Given the description of an element on the screen output the (x, y) to click on. 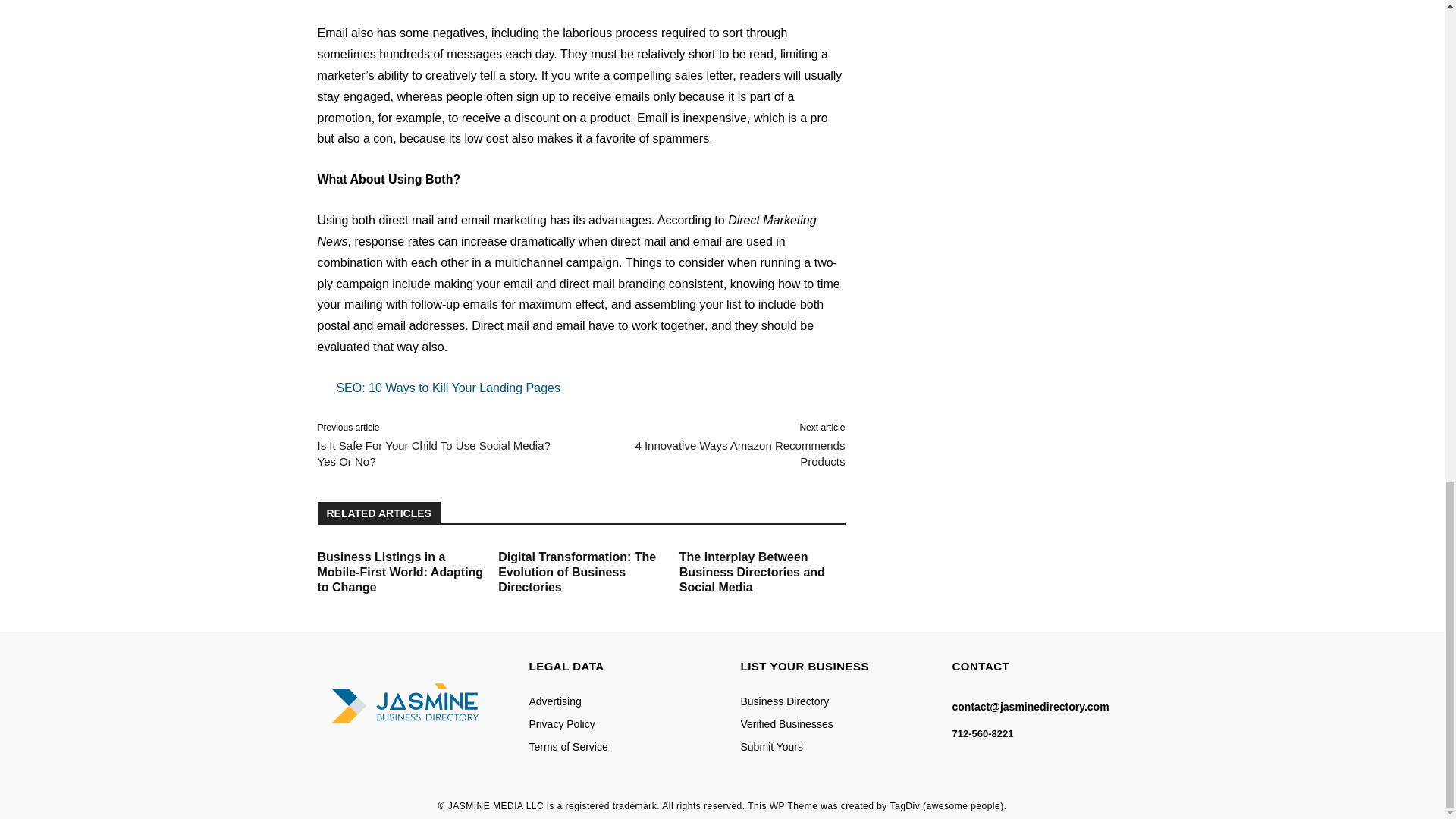
The Interplay Between Business Directories and Social Media (752, 571)
  SEO: 10 Ways to Kill Your Landing Pages (580, 387)
712-560-8221 (982, 733)
4 Innovative Ways Amazon Recommends Products (739, 452)
The Interplay Between Business Directories and Social Media (752, 571)
Is It Safe For Your Child To Use Social Media? Yes Or No? (433, 452)
